Given the description of an element on the screen output the (x, y) to click on. 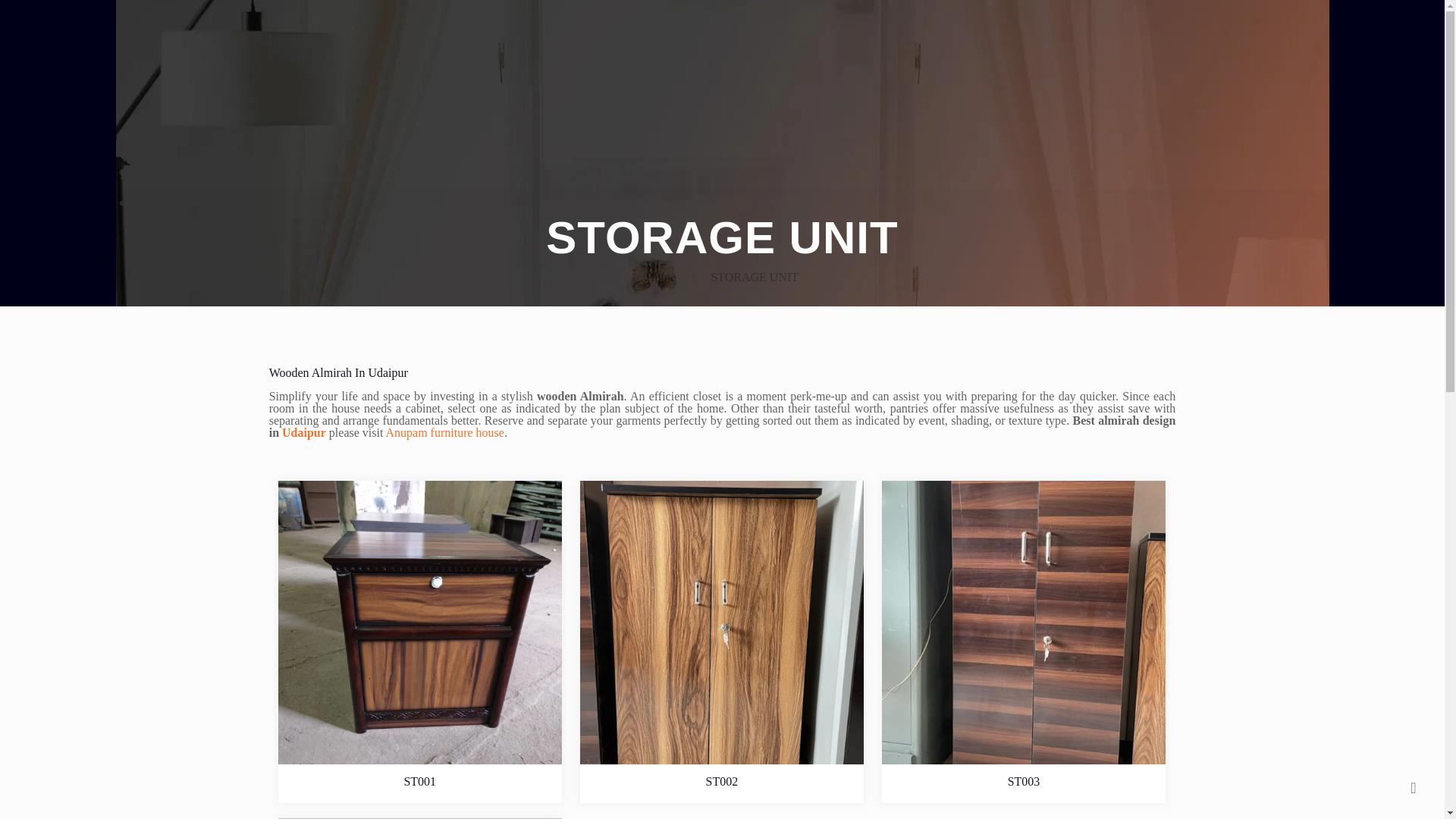
ST002 (722, 780)
ST001 (419, 780)
Anupam furniture house (444, 431)
Udaipur (302, 431)
STORAGE UNIT (753, 277)
ST003 (1024, 780)
Home (660, 277)
